Given the description of an element on the screen output the (x, y) to click on. 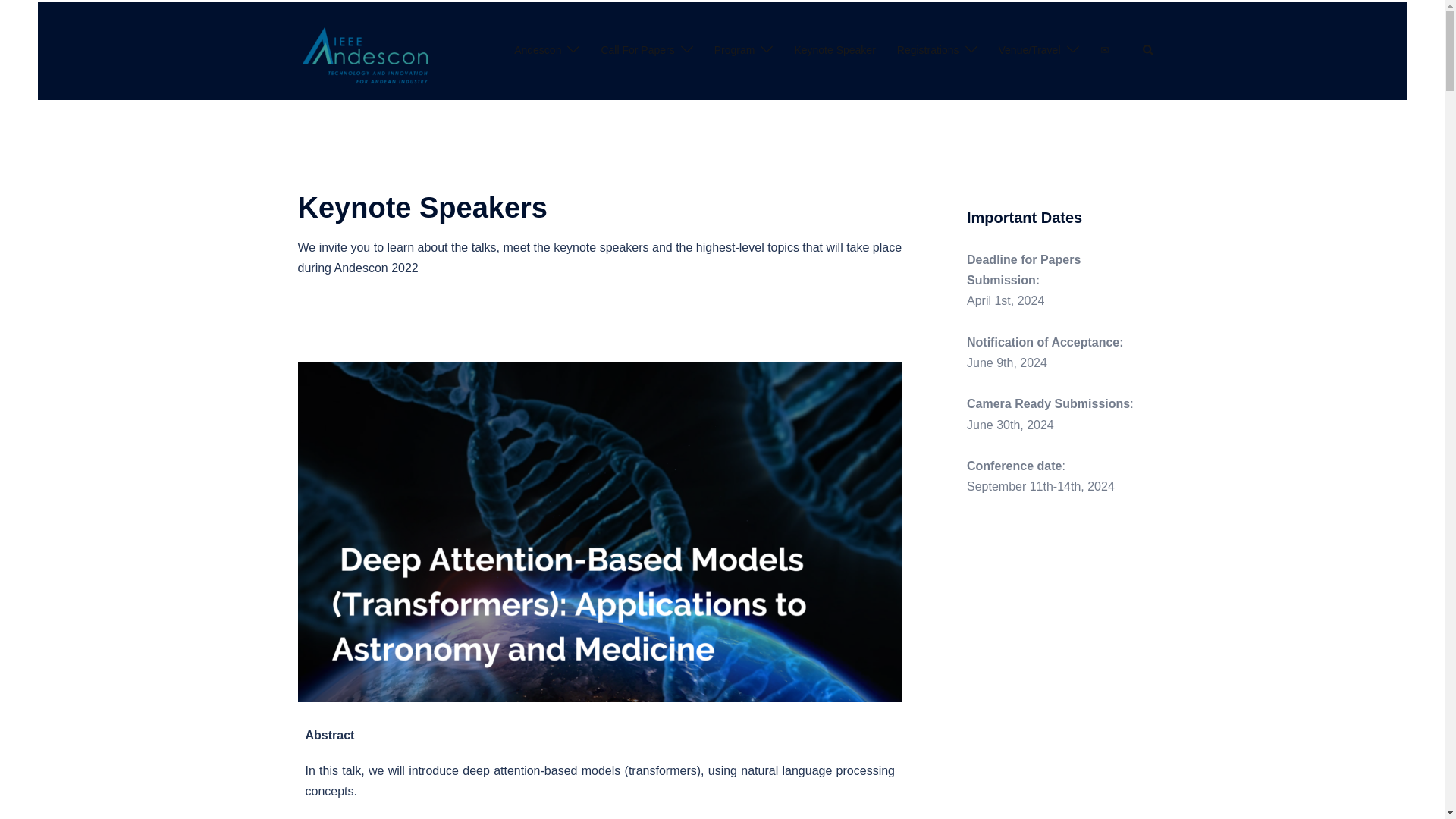
Registrations (927, 50)
Call For Papers (636, 50)
Program (734, 50)
IEEE ANDESCON (365, 49)
Keynote Speaker (834, 50)
Andescon (536, 50)
